Given the description of an element on the screen output the (x, y) to click on. 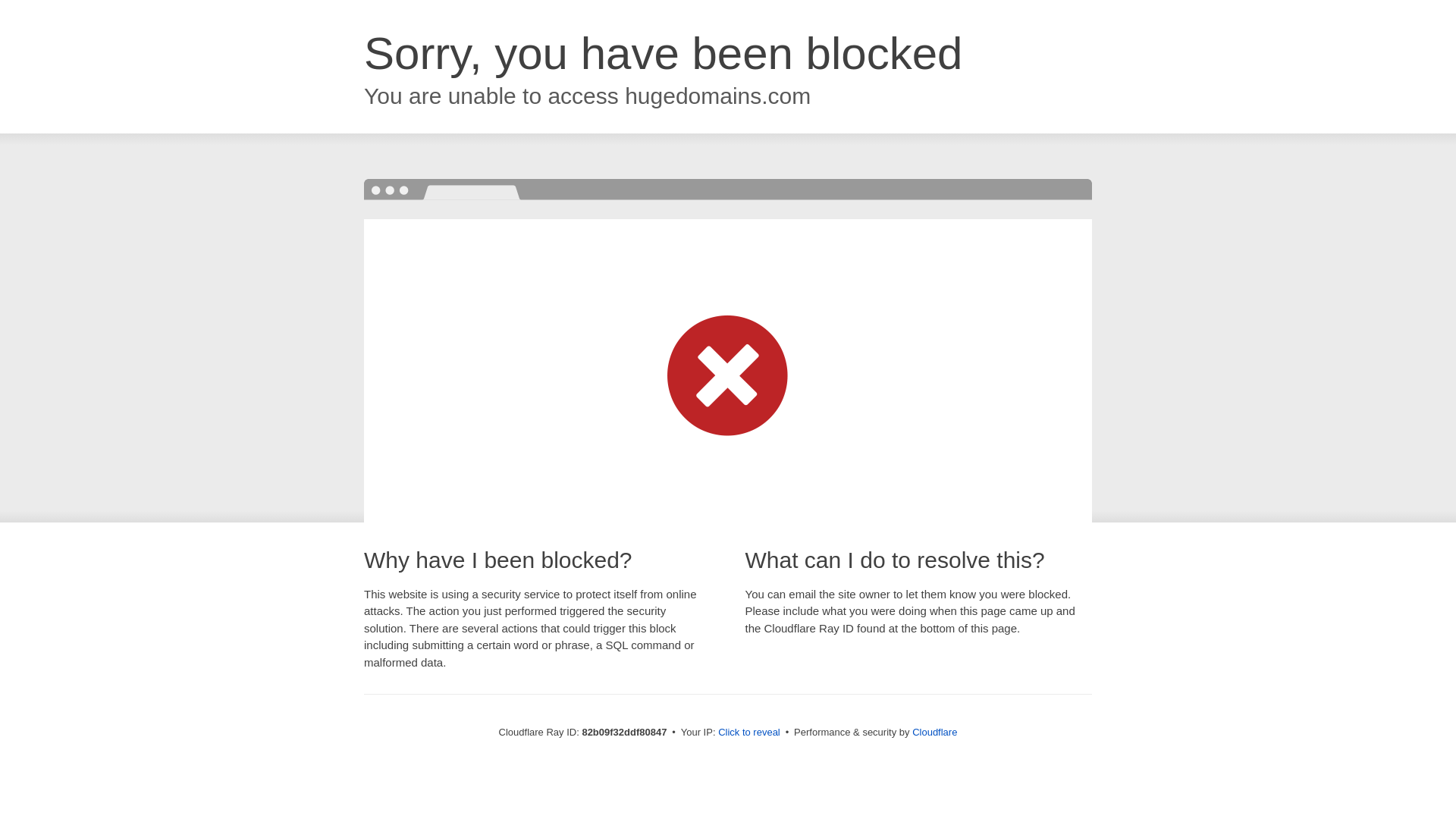
Cloudflare Element type: text (934, 731)
Click to reveal Element type: text (749, 732)
